Given the description of an element on the screen output the (x, y) to click on. 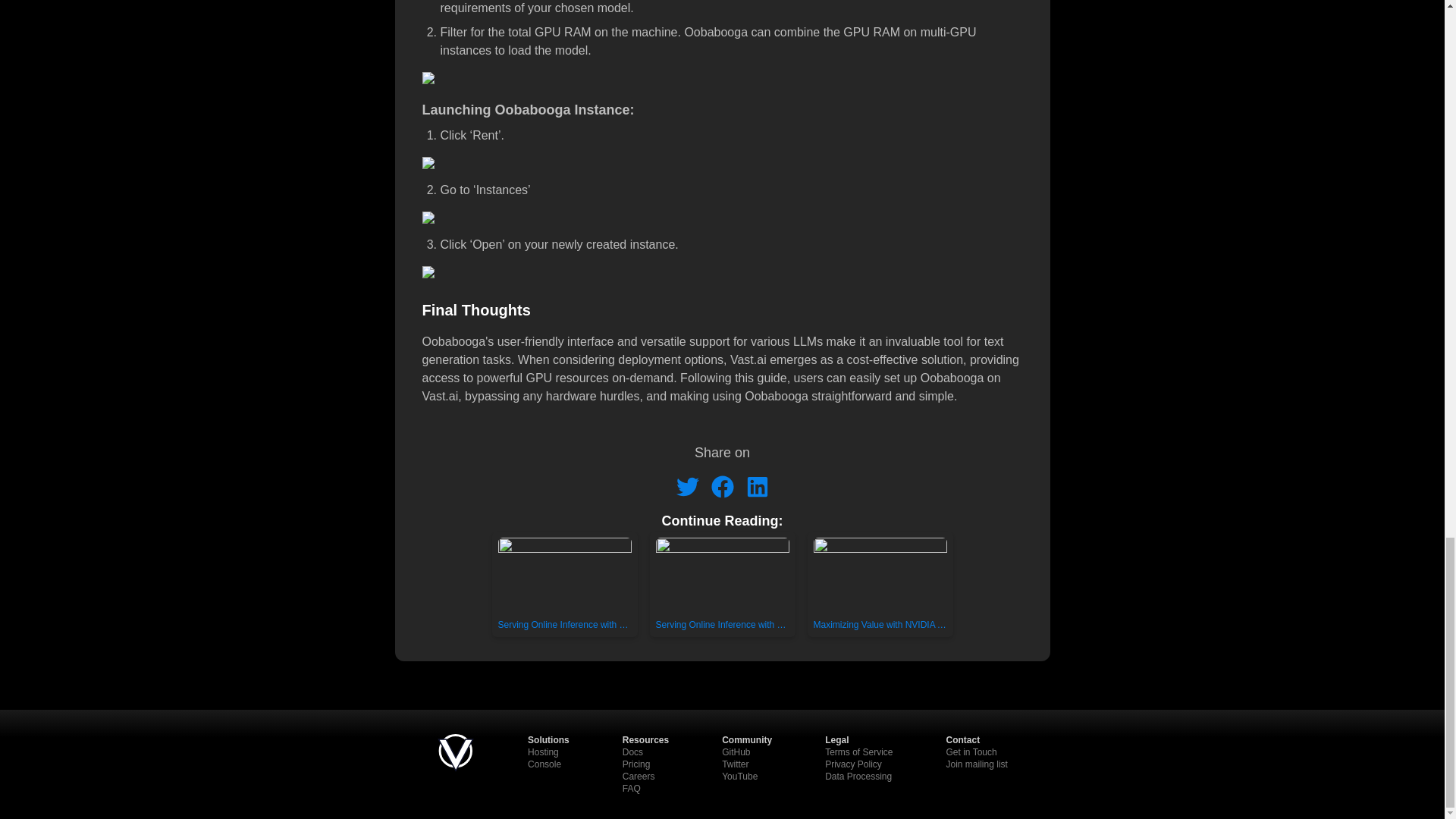
Pricing (636, 764)
Console (543, 764)
Careers (639, 776)
GitHub (735, 752)
FAQ (631, 788)
Docs (633, 752)
YouTube (739, 776)
Hosting (543, 752)
Twitter (735, 764)
